Given the description of an element on the screen output the (x, y) to click on. 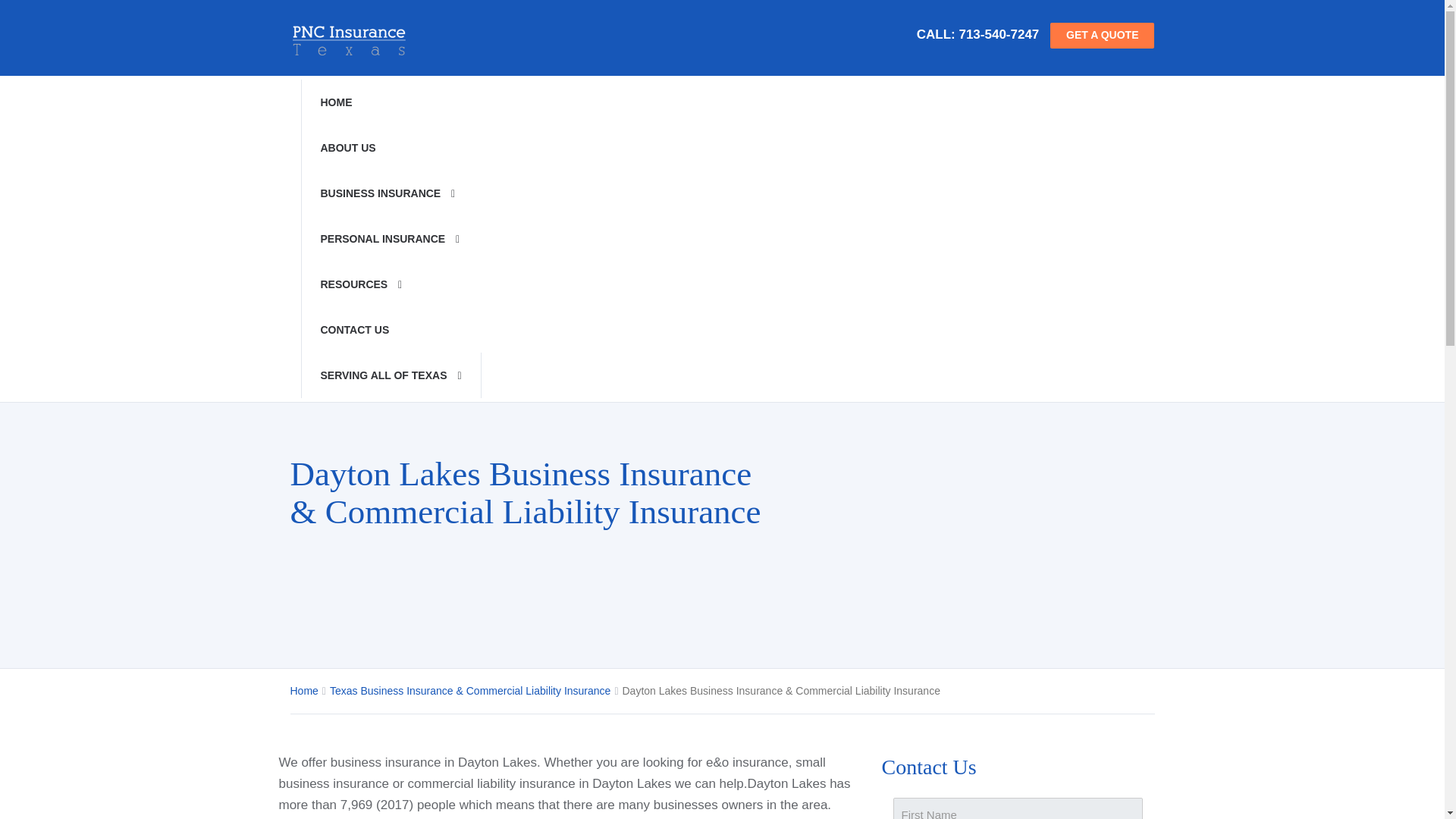
BUSINESS INSURANCE (389, 193)
ABOUT US (389, 147)
SERVING ALL OF TEXAS (389, 375)
GET A QUOTE (1101, 35)
CONTACT US (389, 329)
Business Insurance (389, 193)
713-540-7247 (998, 34)
About US (389, 147)
RESOURCES (389, 284)
PERSONAL INSURANCE (389, 238)
Get a Quote (1101, 35)
HOME (389, 102)
Home (389, 102)
